Given the description of an element on the screen output the (x, y) to click on. 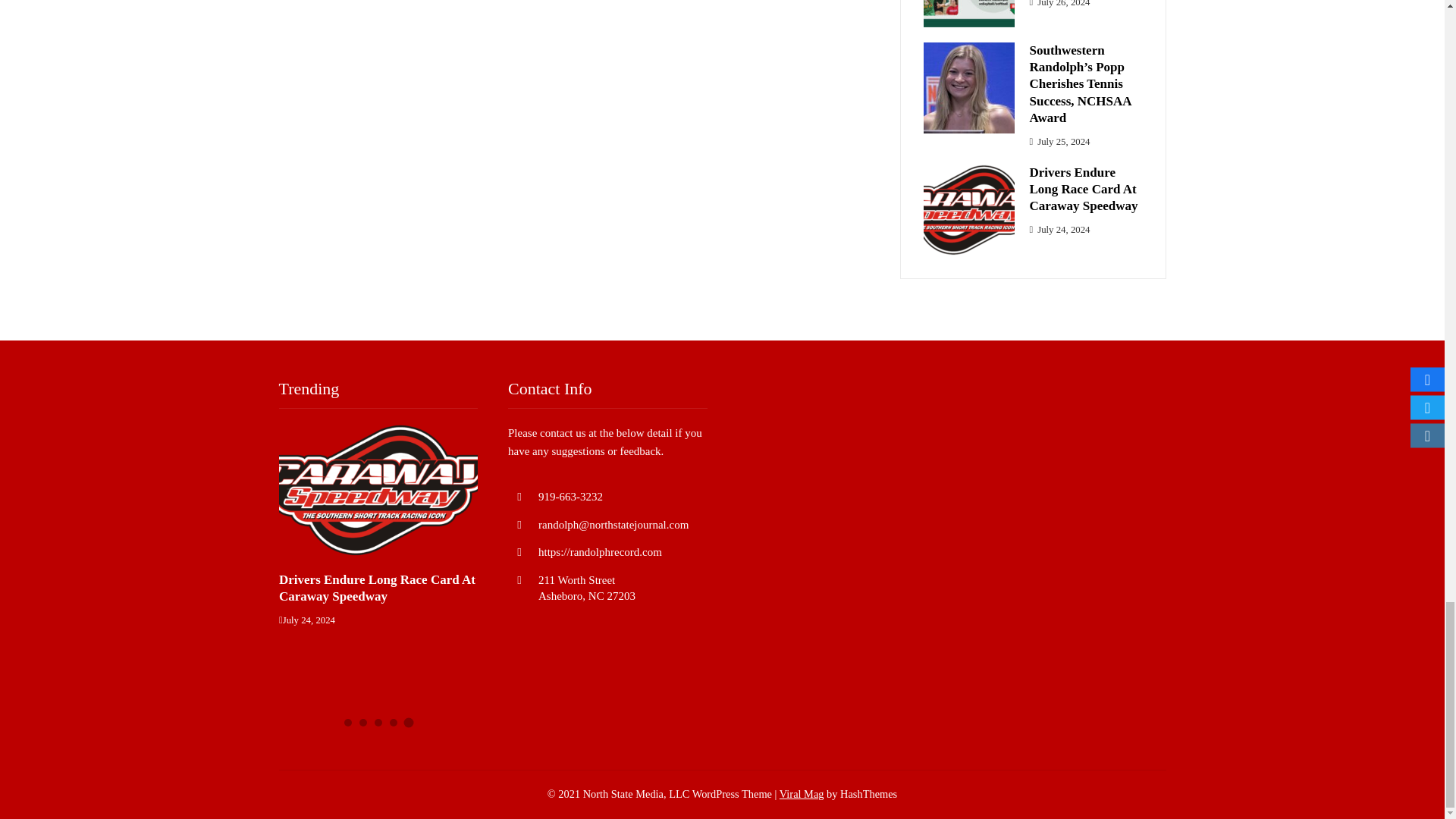
Download Viral News (801, 793)
